Given the description of an element on the screen output the (x, y) to click on. 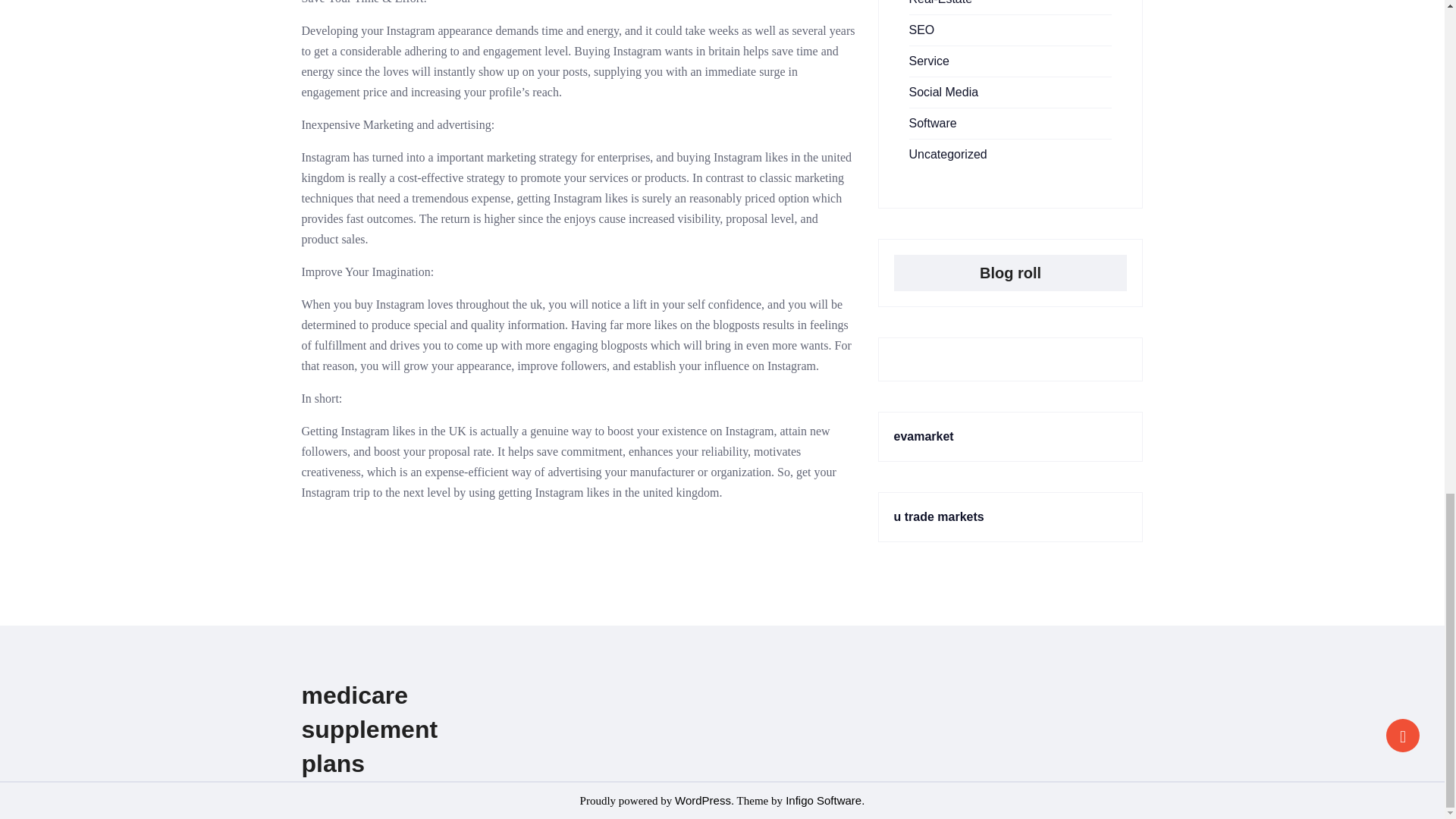
WordPress. (704, 799)
u trade markets (938, 516)
Software (932, 123)
SEO (921, 29)
Real-Estate (940, 2)
Service (928, 60)
Social Media (943, 91)
evamarket (923, 436)
Infigo Software. (823, 799)
Uncategorized (947, 154)
medicare supplement plans (369, 729)
